Given the description of an element on the screen output the (x, y) to click on. 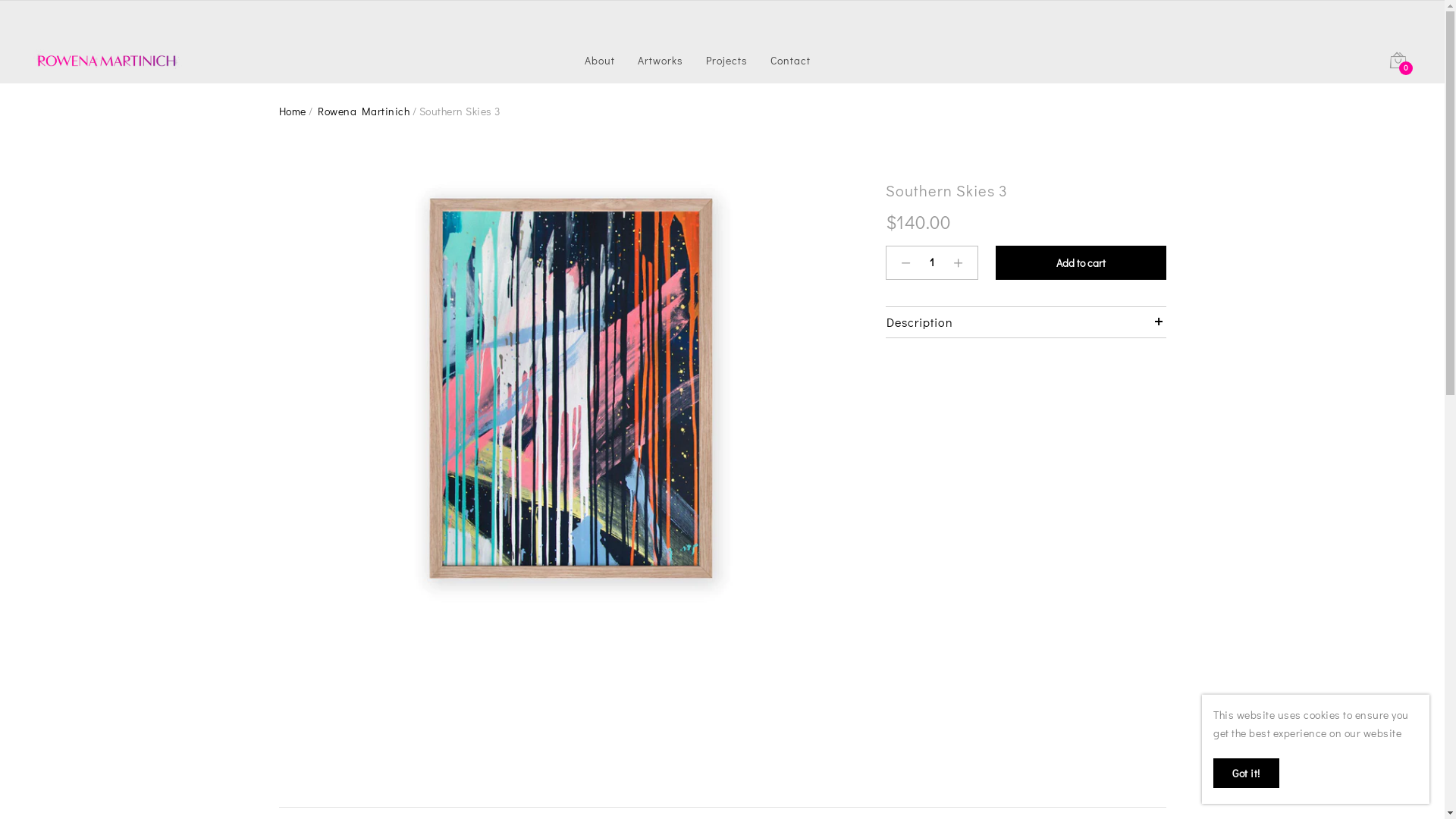
Got it! Element type: text (1246, 772)
About Element type: text (599, 60)
Rowena Martinich Element type: text (363, 110)
Artworks Element type: text (660, 60)
Contact Element type: text (790, 60)
Add to cart Element type: text (1079, 262)
0 Element type: text (1398, 63)
Projects Element type: text (726, 60)
Qty Element type: hover (930, 262)
Home Element type: text (294, 110)
